Given the description of an element on the screen output the (x, y) to click on. 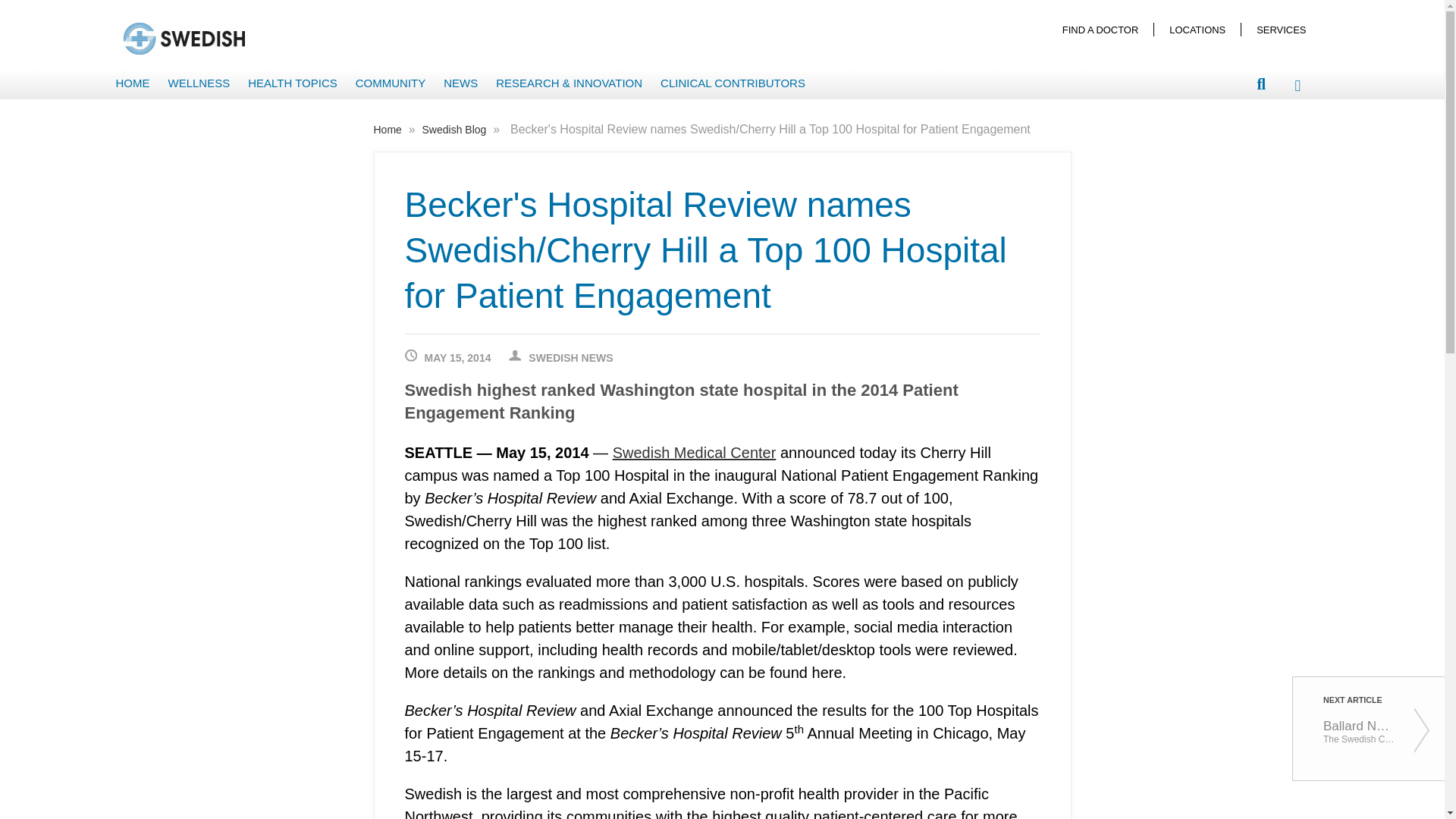
COMMUNITY (390, 83)
HEALTH TOPICS (293, 83)
NEWS (460, 83)
Home (388, 129)
LOCATIONS (1197, 29)
FIND A DOCTOR (1100, 29)
WELLNESS (199, 83)
CLINICAL CONTRIBUTORS (732, 83)
SERVICES (1280, 29)
HOME (132, 83)
